Given the description of an element on the screen output the (x, y) to click on. 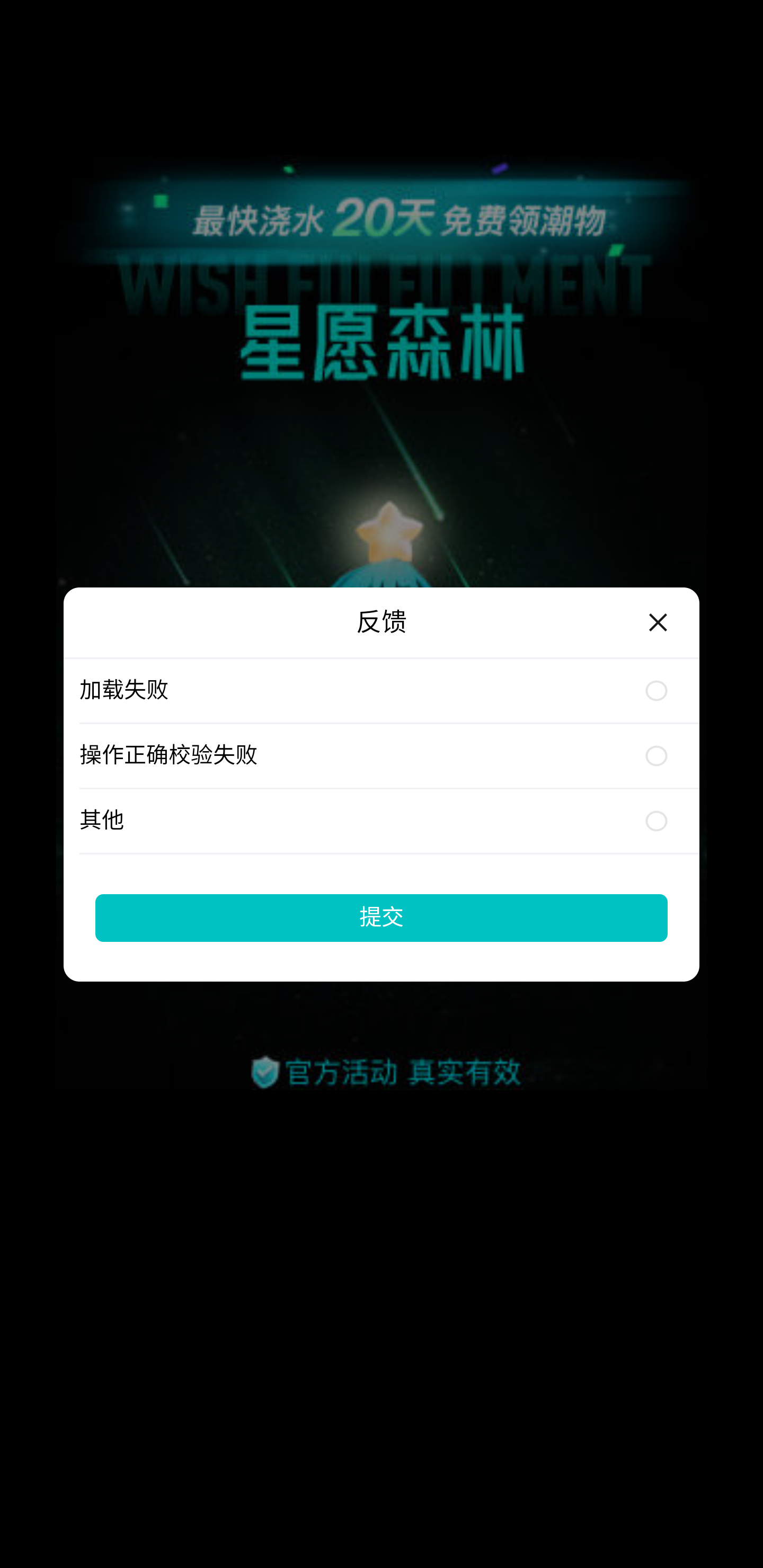
提交 (381, 917)
